Given the description of an element on the screen output the (x, y) to click on. 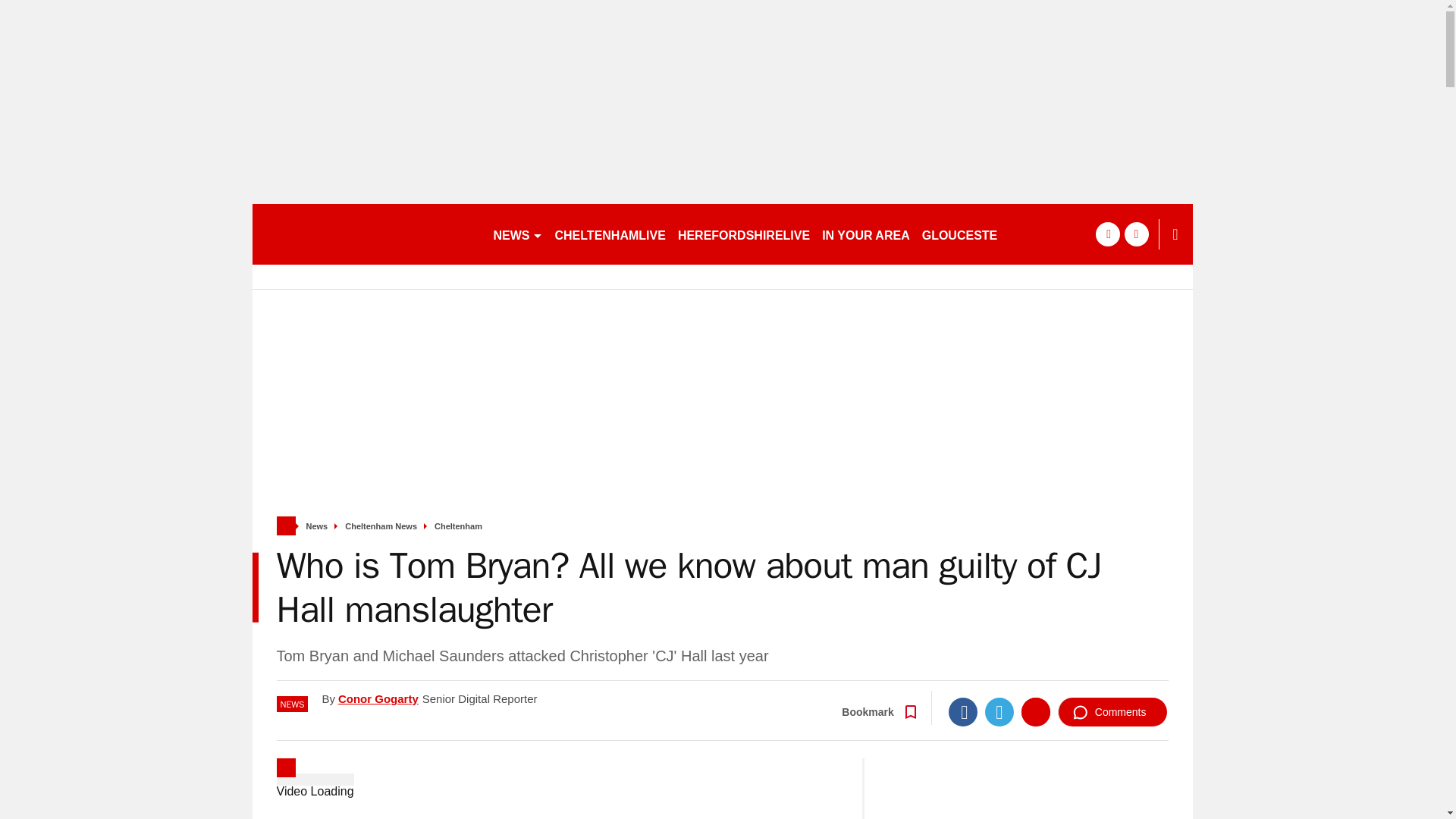
Comments (1112, 711)
IN YOUR AREA (865, 233)
Facebook (962, 711)
CHELTENHAMLIVE (609, 233)
NEWS (517, 233)
twitter (1136, 233)
facebook (1106, 233)
Twitter (999, 711)
GLOUCESTER NEWS (983, 233)
gloucestershirelive (365, 233)
HEREFORDSHIRELIVE (743, 233)
